Given the description of an element on the screen output the (x, y) to click on. 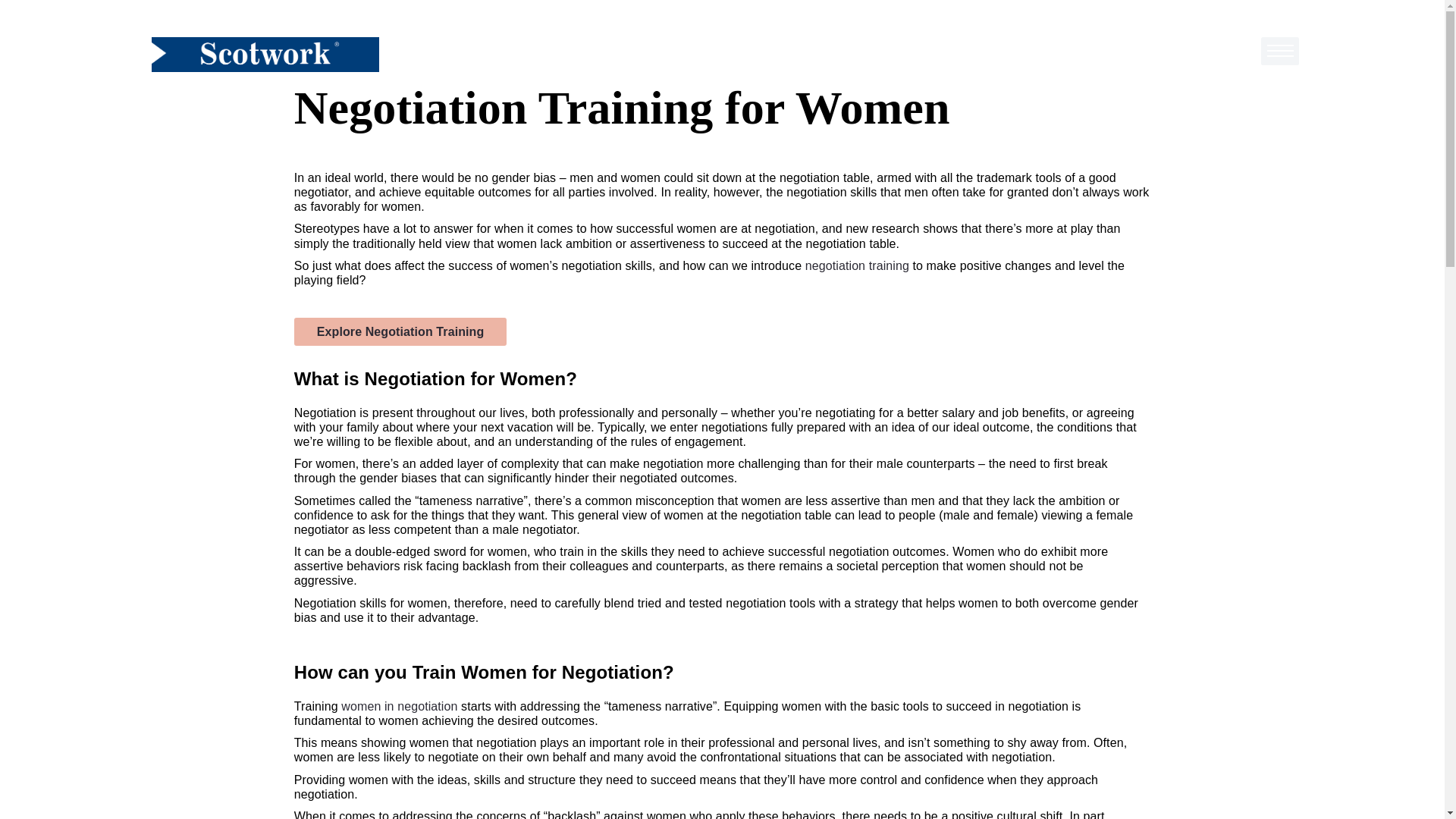
home (264, 54)
women in negotiation (398, 706)
Explore Negotiation Training (400, 331)
negotiation training (856, 265)
